Given the description of an element on the screen output the (x, y) to click on. 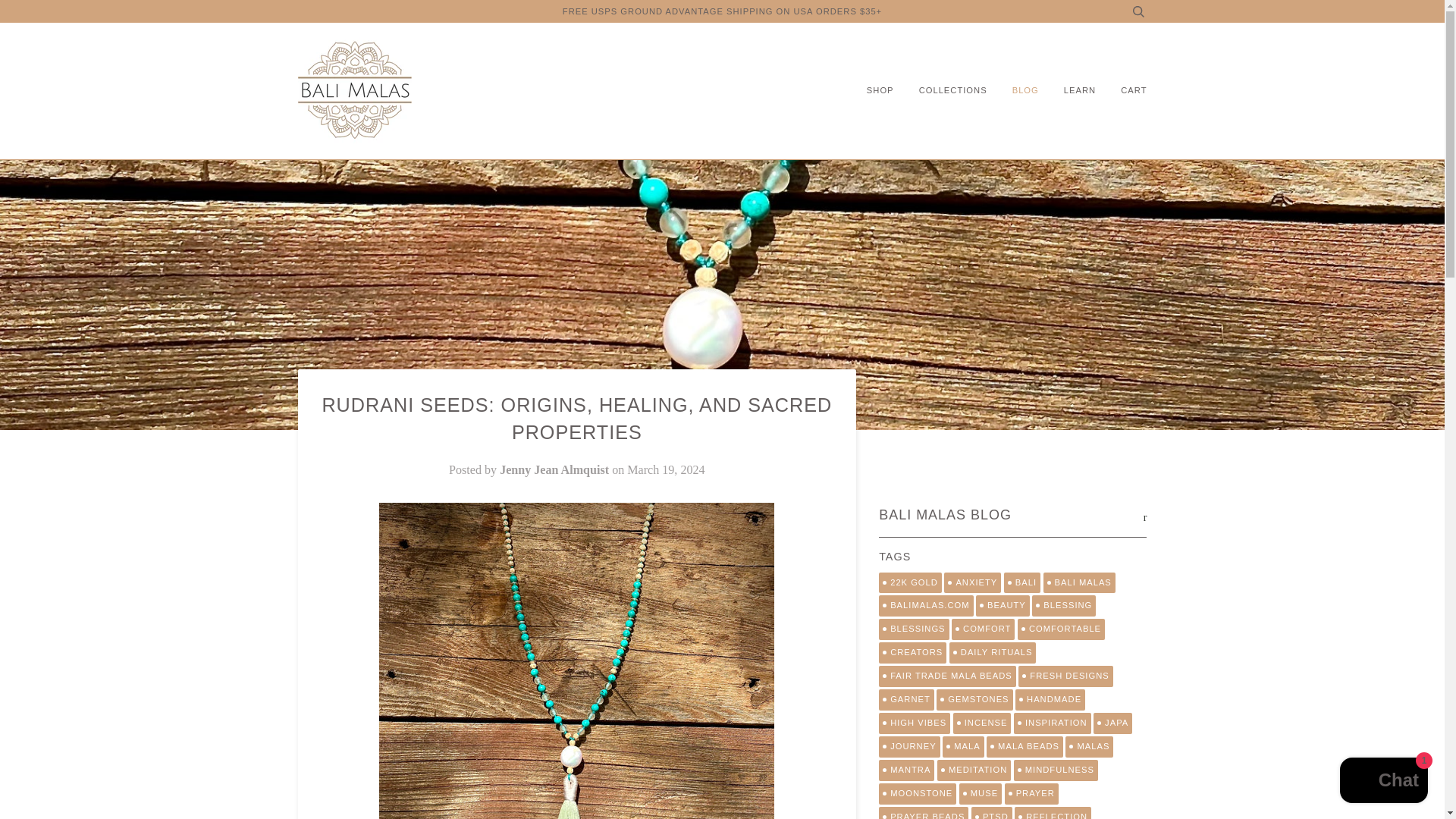
Shopify online store chat (1383, 781)
SHOP (876, 90)
LEARN (1068, 90)
COLLECTIONS (941, 90)
CART (1122, 90)
BLOG (1014, 90)
Bali Malas RSS (1144, 517)
